Given the description of an element on the screen output the (x, y) to click on. 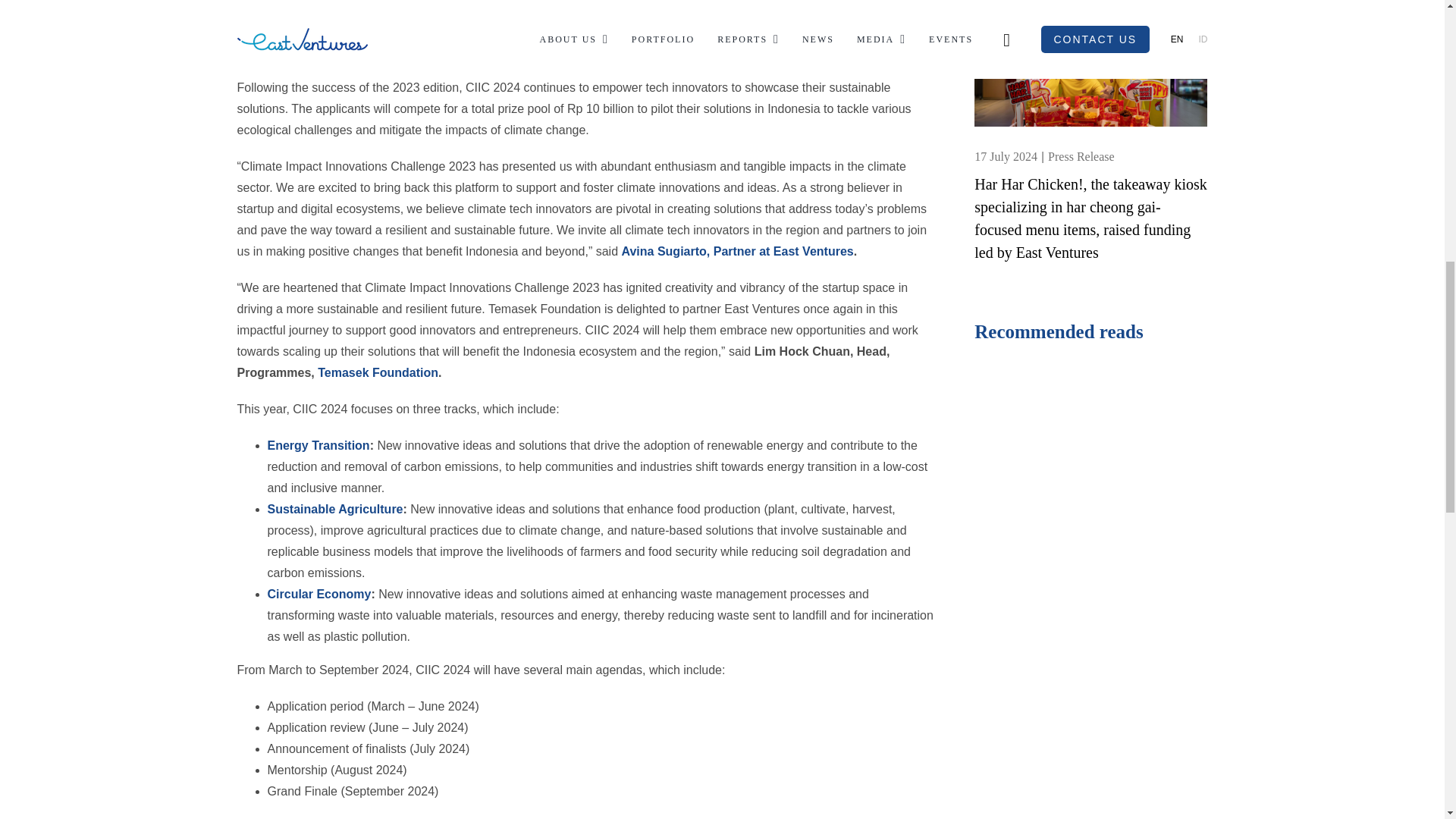
Avina Sugiarto, Partner at East Ventures (737, 250)
Sustainable Agriculture (334, 508)
Climate Impact Innovations Challenge (741, 29)
Energy Transition (317, 445)
Circular Economy (318, 594)
Temasek Foundation (377, 372)
